Given the description of an element on the screen output the (x, y) to click on. 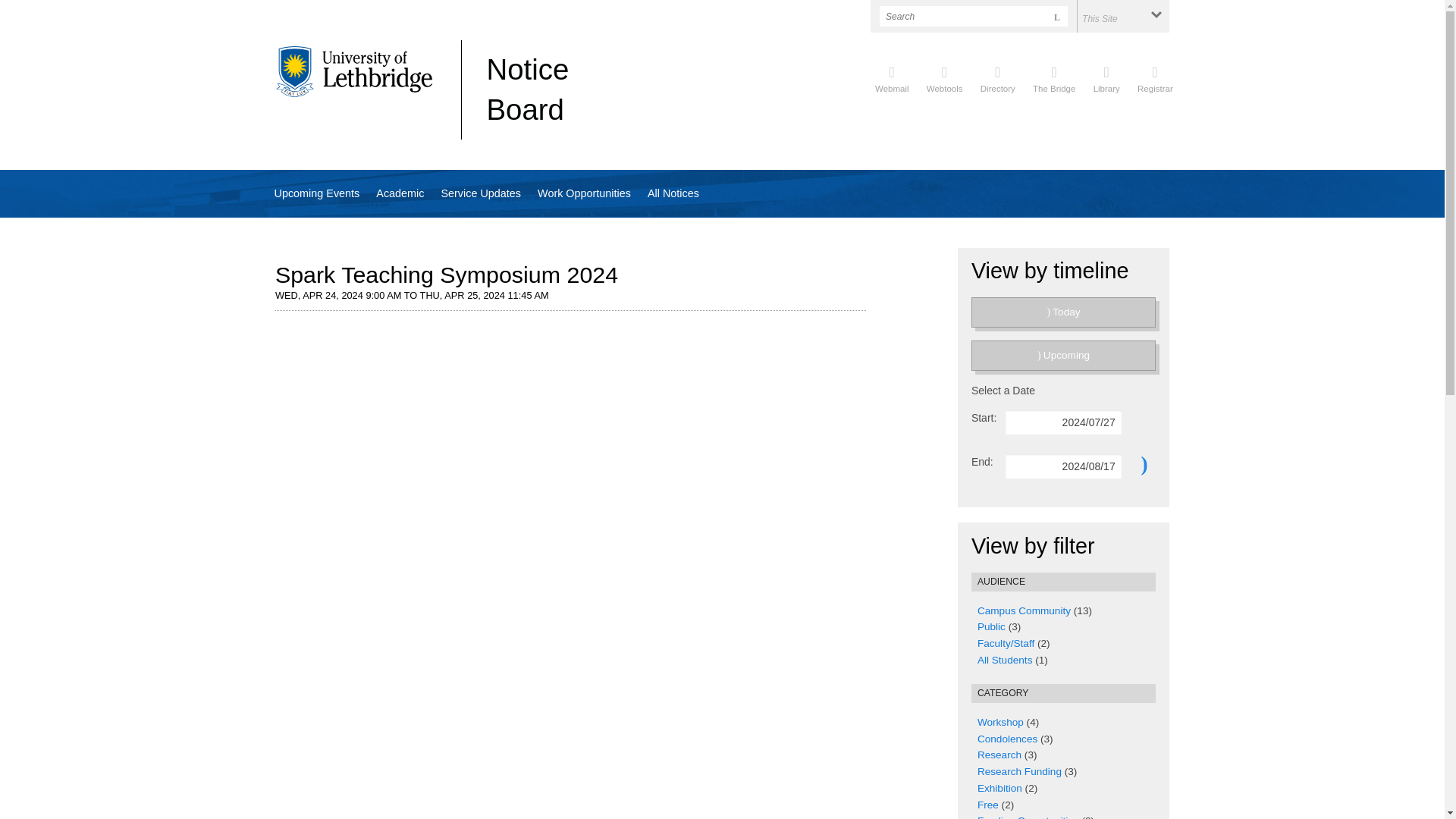
Public (991, 626)
L (1056, 15)
Exhibition (999, 787)
The Bridge (1053, 77)
Notice Board (527, 89)
Directory (996, 77)
Funding Opportunities (1027, 816)
Research (999, 754)
All Students (1004, 659)
Upcoming (1063, 355)
Condolences (1006, 738)
Work Opportunities (584, 193)
Webtools (944, 77)
Academic (399, 193)
Today (1063, 312)
